Given the description of an element on the screen output the (x, y) to click on. 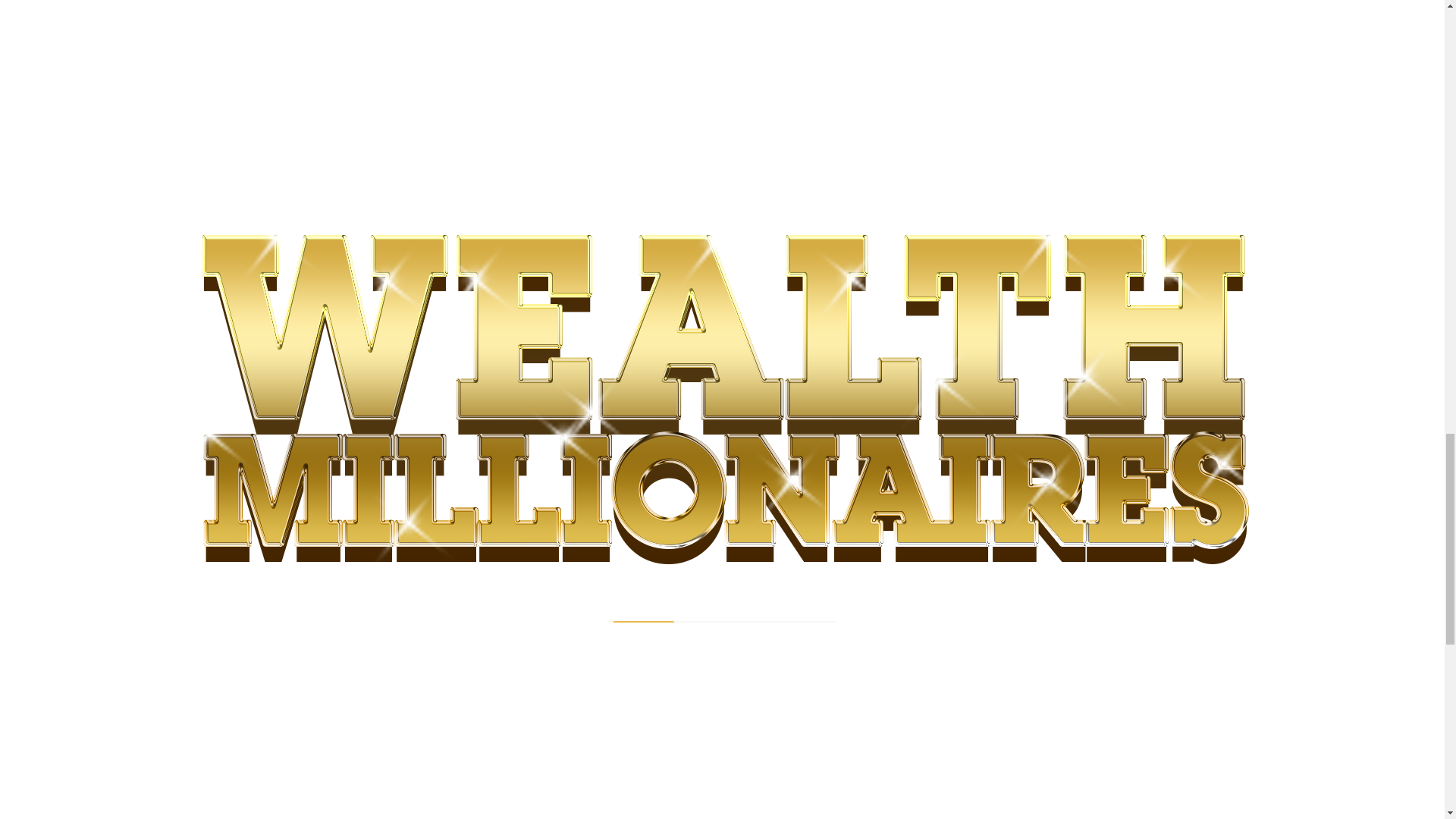
2 years ago (611, 242)
2 years ago (430, 1)
2 years ago (611, 588)
2 years ago (330, 561)
